Given the description of an element on the screen output the (x, y) to click on. 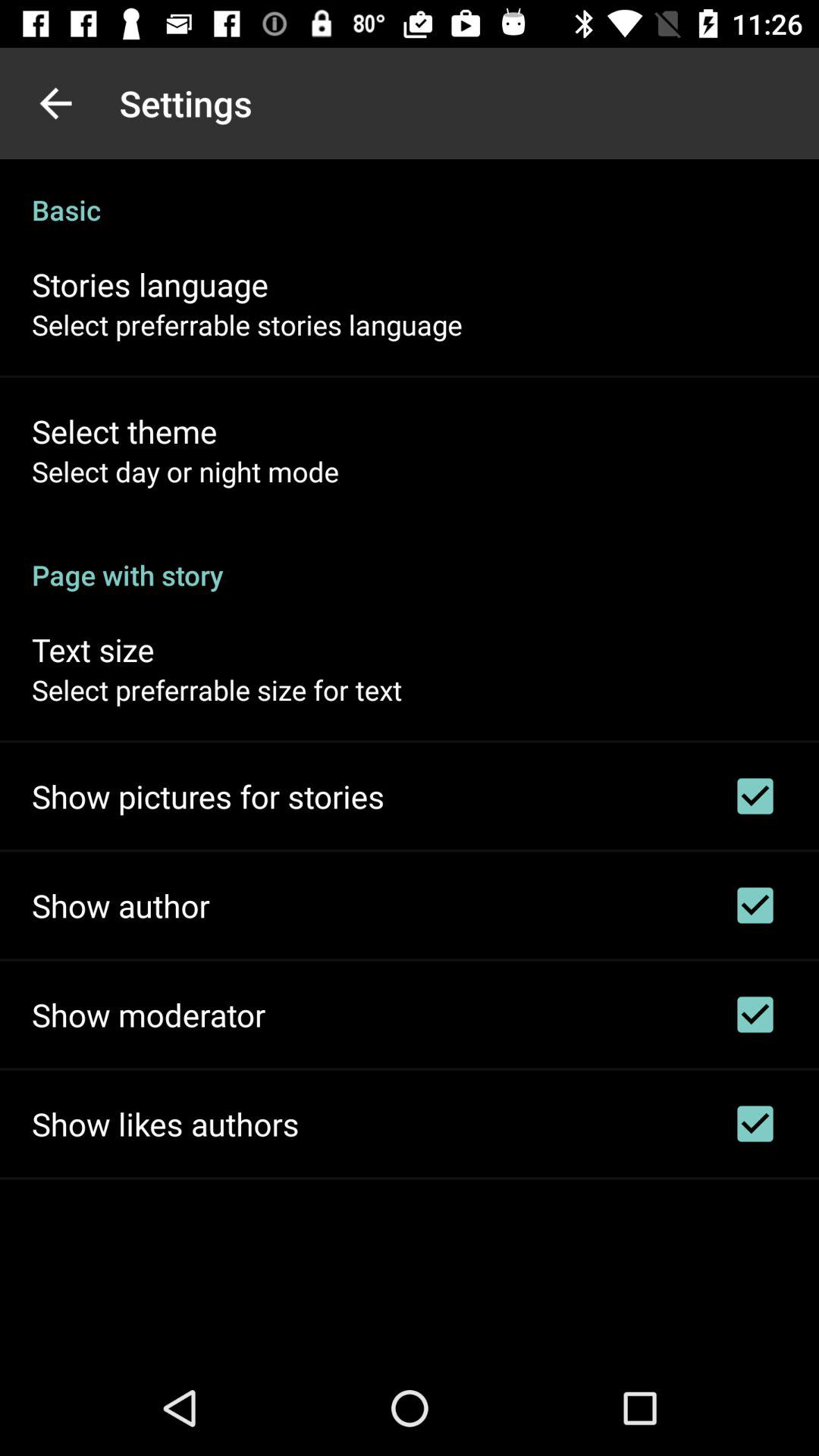
launch item above the stories language item (409, 193)
